Given the description of an element on the screen output the (x, y) to click on. 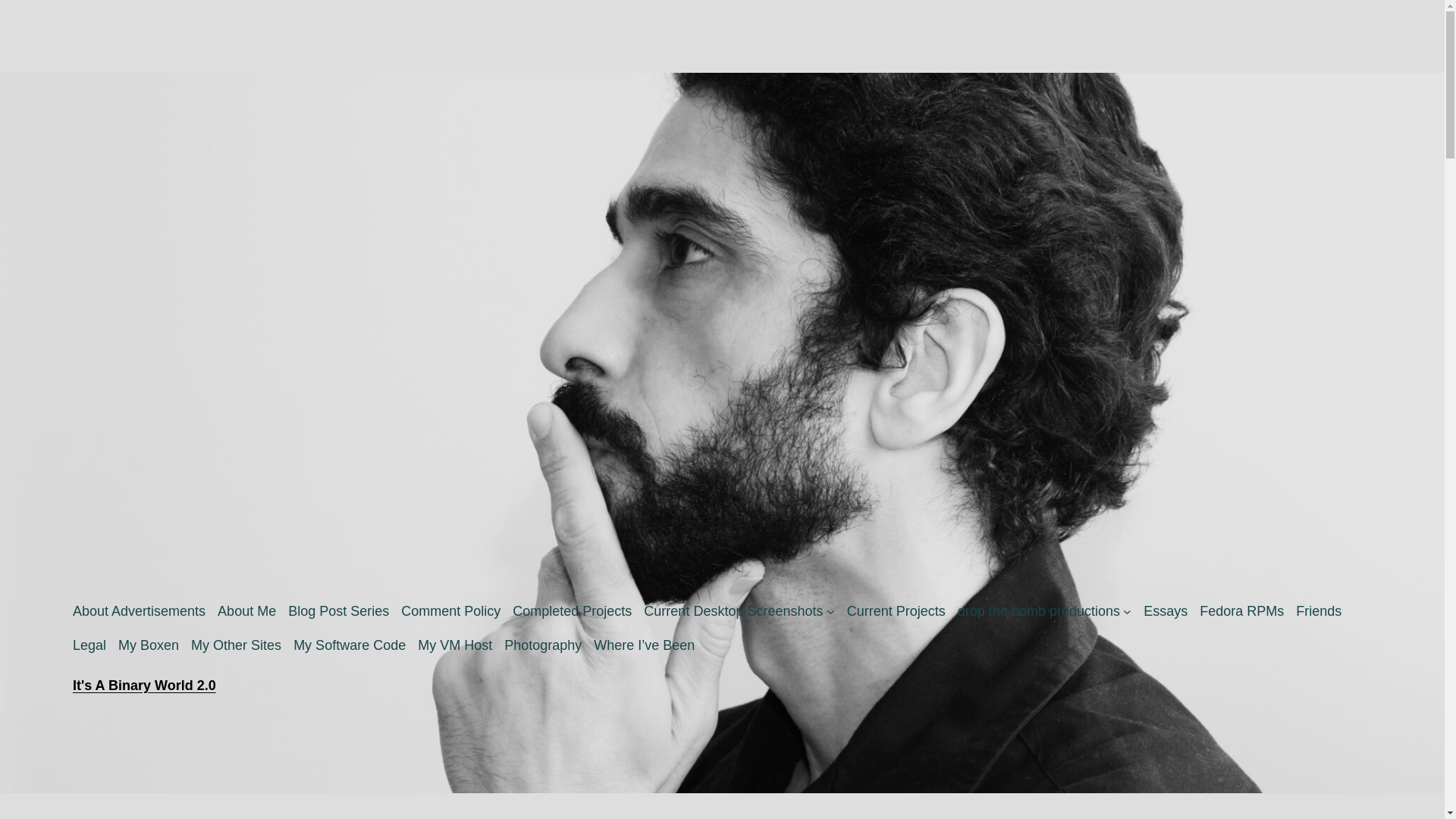
Comment Policy (450, 611)
Fedora RPMs (1241, 611)
Current Projects (895, 611)
Legal (89, 645)
Current Desktop Screenshots (732, 611)
About Advertisements (138, 611)
drop the bomb productions (1038, 611)
Blog Post Series (338, 611)
About Me (246, 611)
Friends (1317, 611)
Essays (1165, 611)
Completed Projects (571, 611)
